Given the description of an element on the screen output the (x, y) to click on. 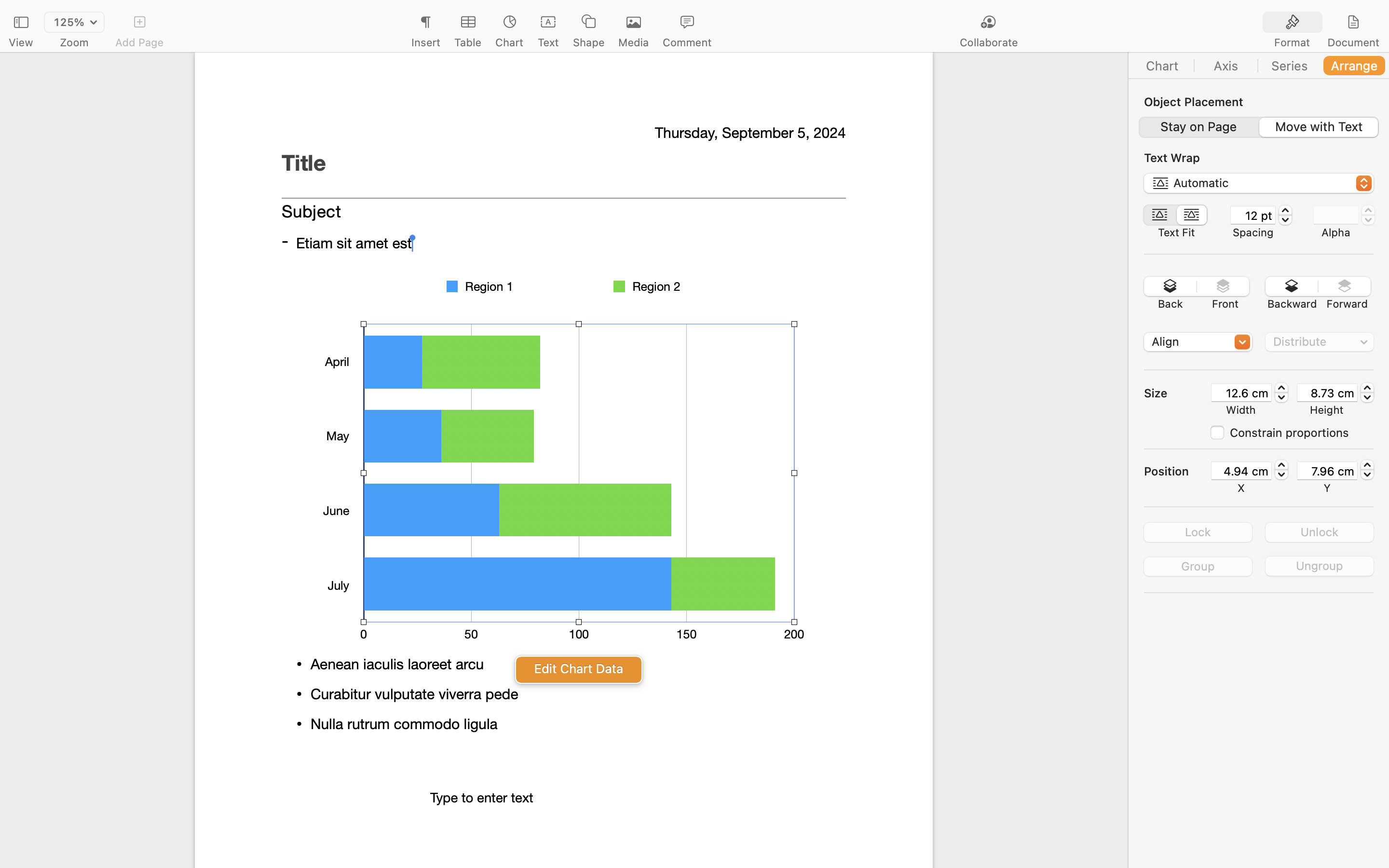
<AXUIElement 0x178665520> {pid=1482} Element type: AXGroup (1322, 22)
X Element type: AXStaticText (1241, 487)
Click to link text boxes together. Element type: AXStaticText (563, 284)
Automatic Element type: AXPopUpButton (1259, 184)
Height Element type: AXStaticText (1326, 409)
